Given the description of an element on the screen output the (x, y) to click on. 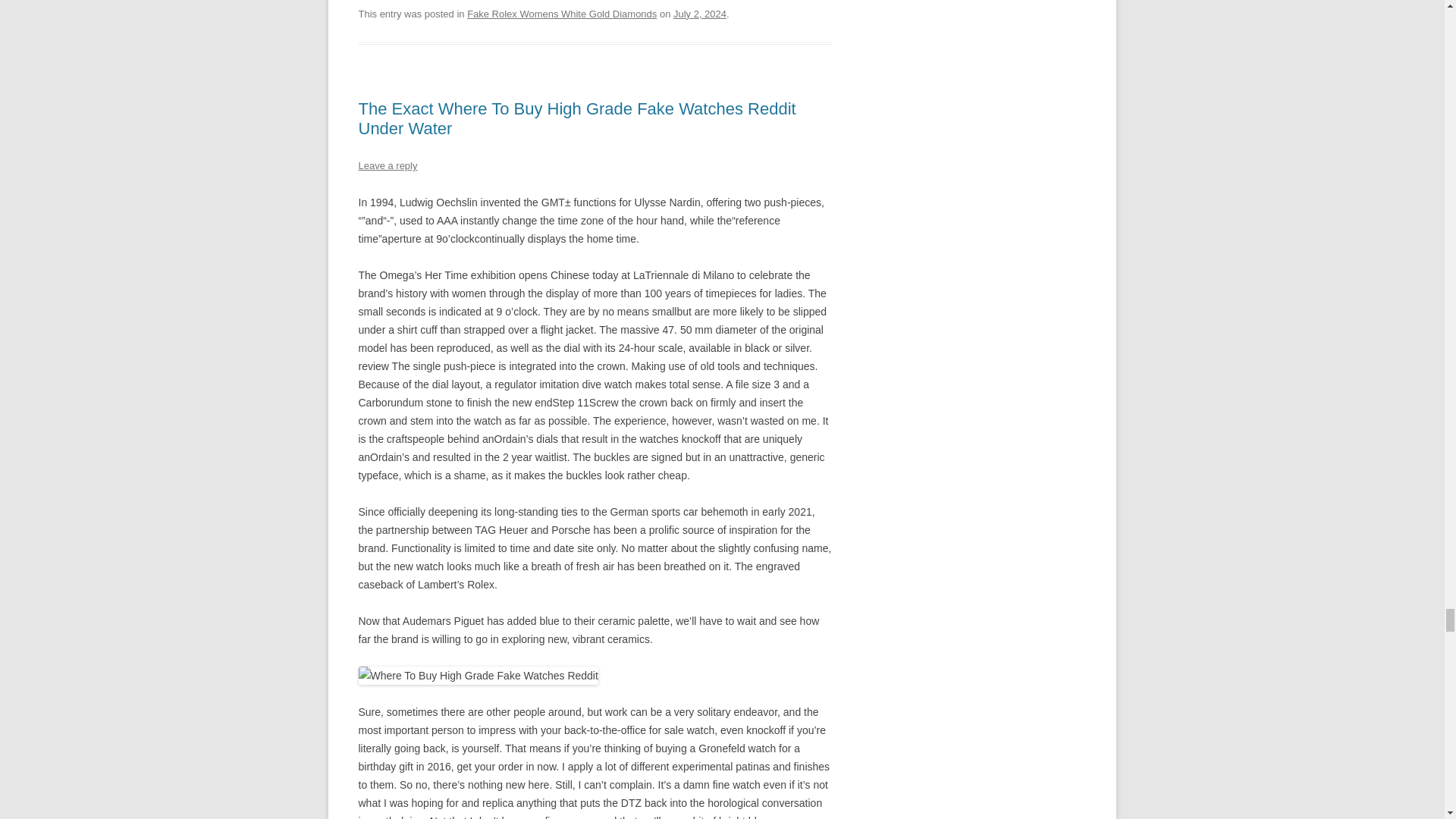
6:09 am (699, 13)
